Given the description of an element on the screen output the (x, y) to click on. 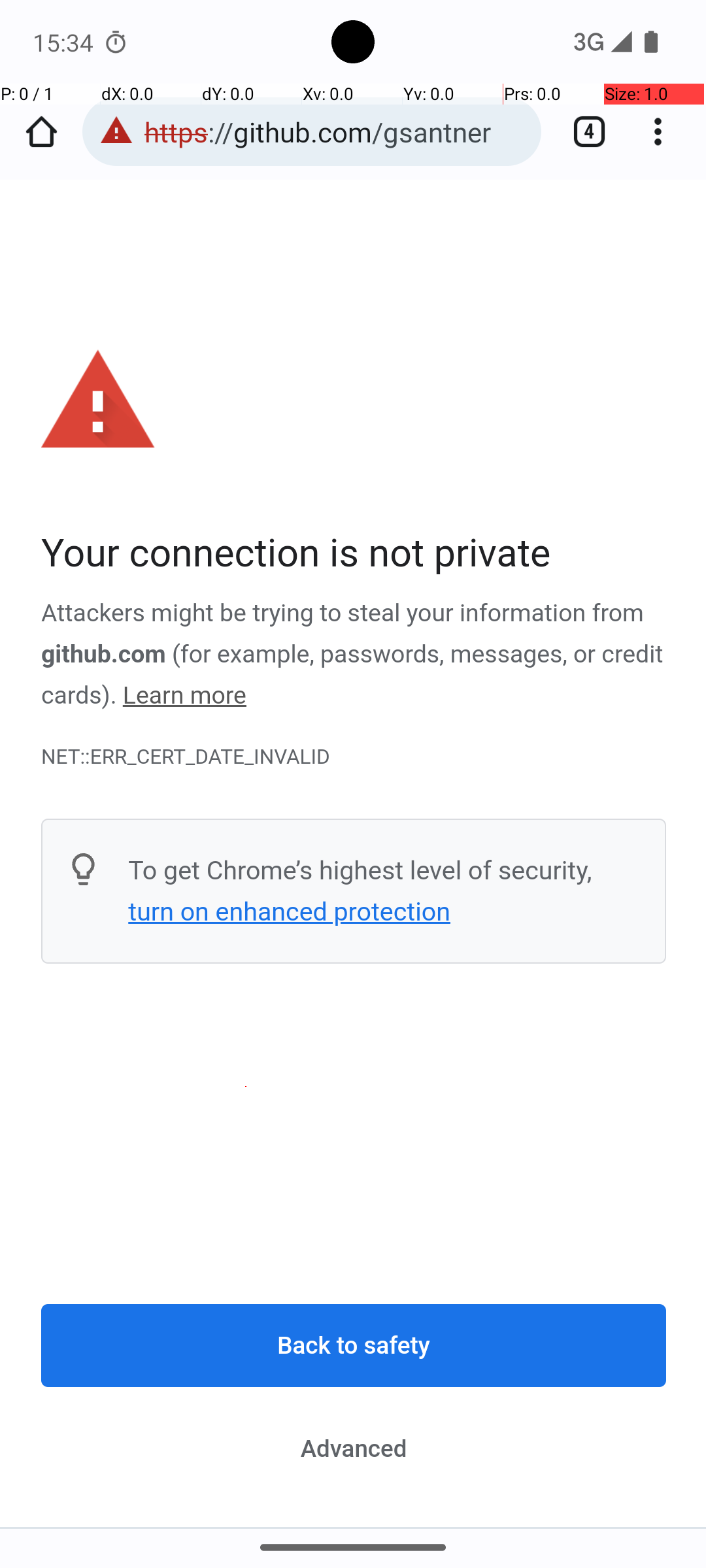
https://github.com/gsantner Element type: android.widget.EditText (335, 131)
